Given the description of an element on the screen output the (x, y) to click on. 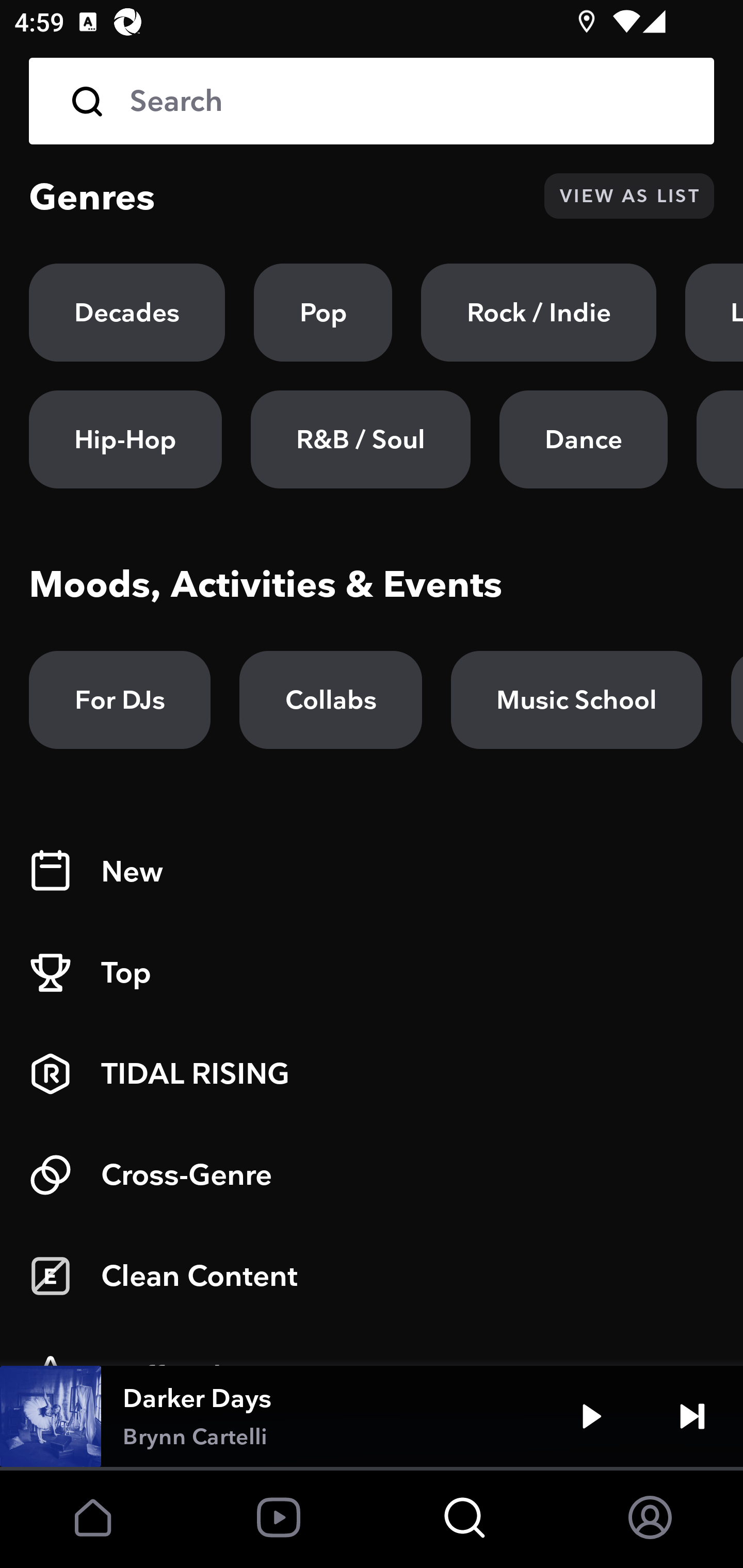
Search (371, 101)
Search (407, 100)
VIEW AS LIST (629, 195)
Decades (126, 312)
Pop (323, 312)
Rock / Indie (538, 312)
Hip-Hop (125, 439)
R&B / Soul (360, 439)
Dance (583, 439)
For DJs (119, 699)
Collabs (330, 699)
Music School (576, 699)
New (371, 871)
Top (371, 972)
TIDAL RISING (371, 1073)
Cross-Genre (371, 1175)
Clean Content (371, 1276)
Darker Days Brynn Cartelli Play (371, 1416)
Play (590, 1416)
